Given the description of an element on the screen output the (x, y) to click on. 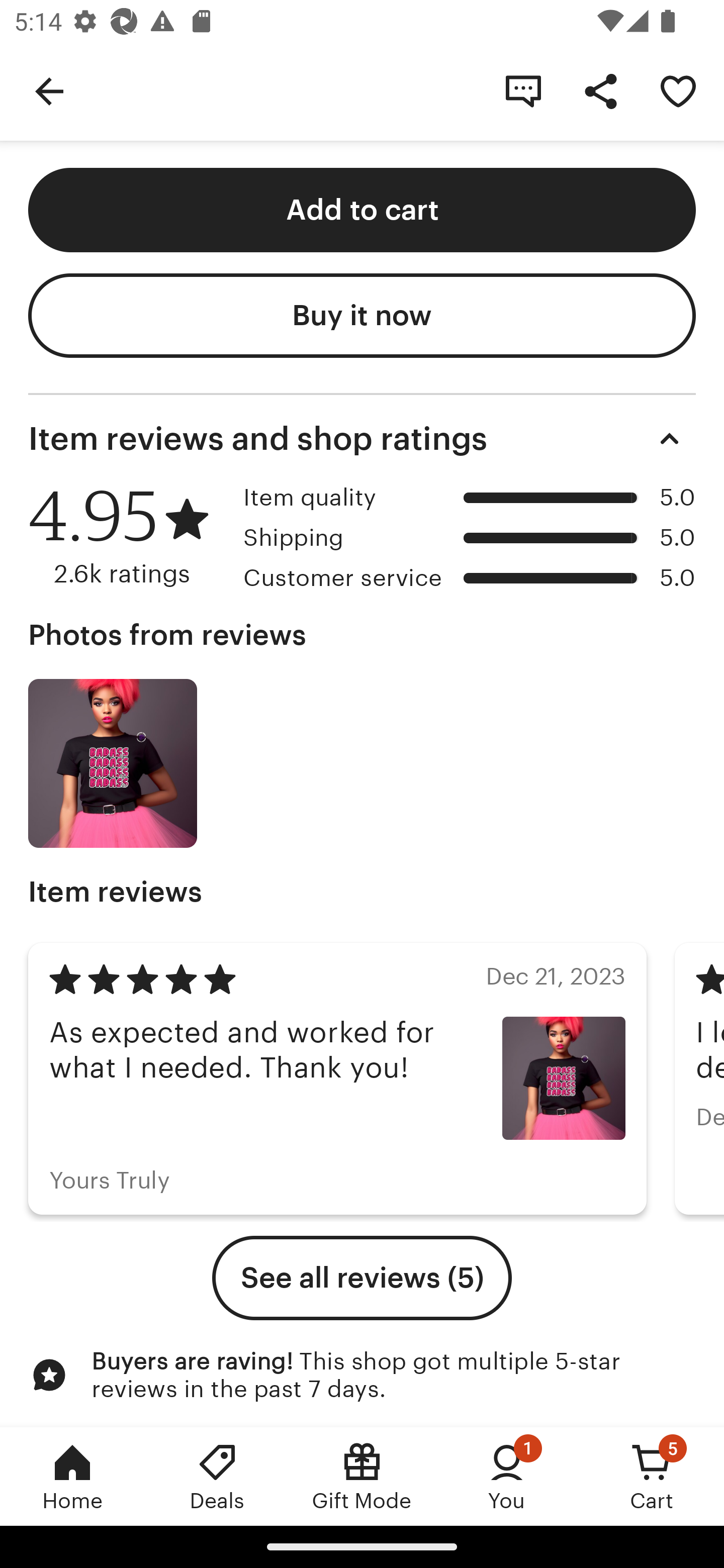
Navigate up (49, 90)
Contact shop (523, 90)
Share (600, 90)
Add to cart (361, 209)
Buy it now (361, 314)
Item reviews and shop ratings (362, 438)
4.95 2.6k ratings (128, 536)
Photo from review (112, 763)
See all reviews (5) (361, 1277)
Deals (216, 1475)
Gift Mode (361, 1475)
You, 1 new notification You (506, 1475)
Cart, 5 new notifications Cart (651, 1475)
